Given the description of an element on the screen output the (x, y) to click on. 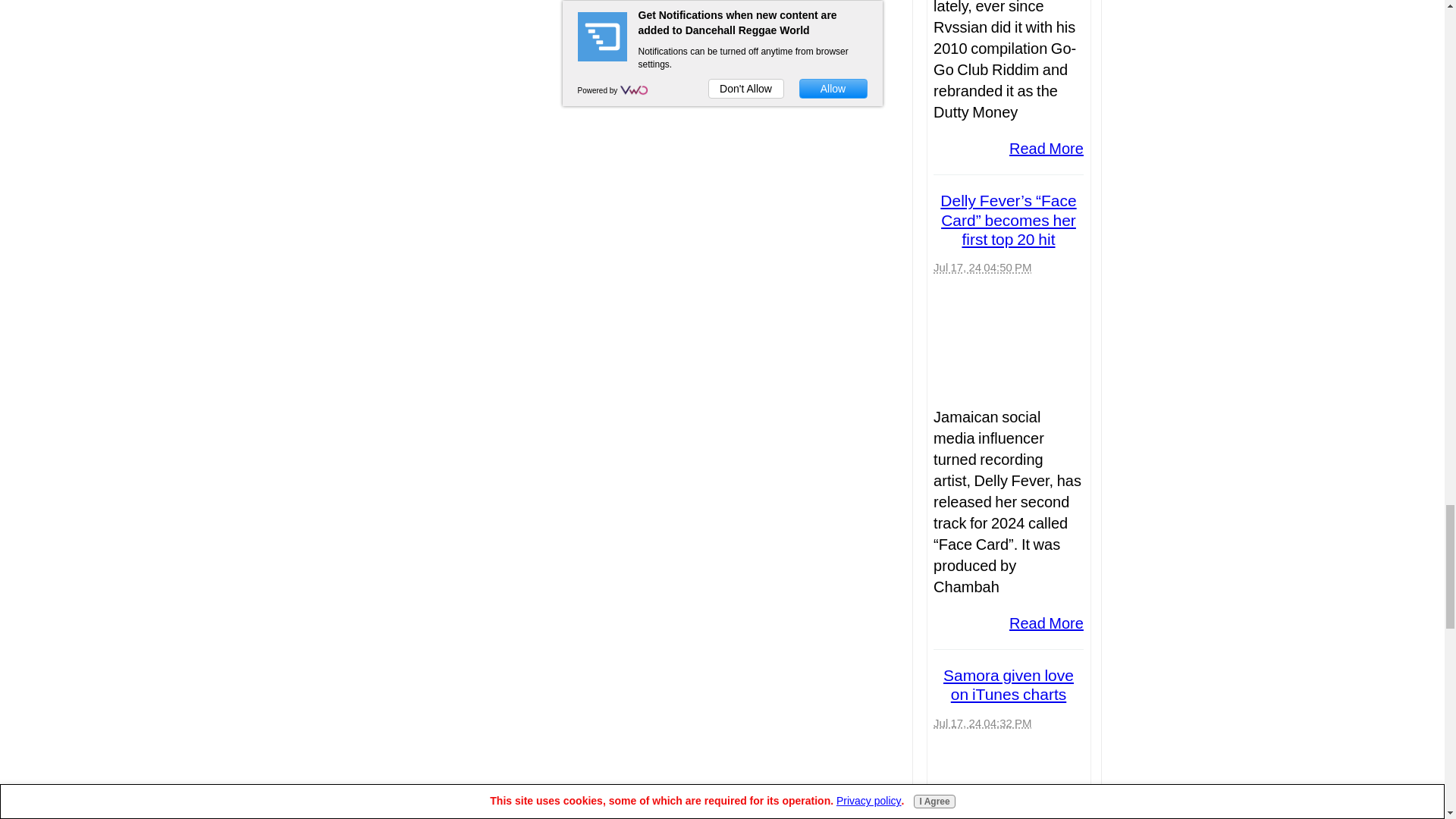
2024-07-17T16:32:40-0400 (981, 722)
2024-07-17T16:50:42-0400 (981, 267)
